Given the description of an element on the screen output the (x, y) to click on. 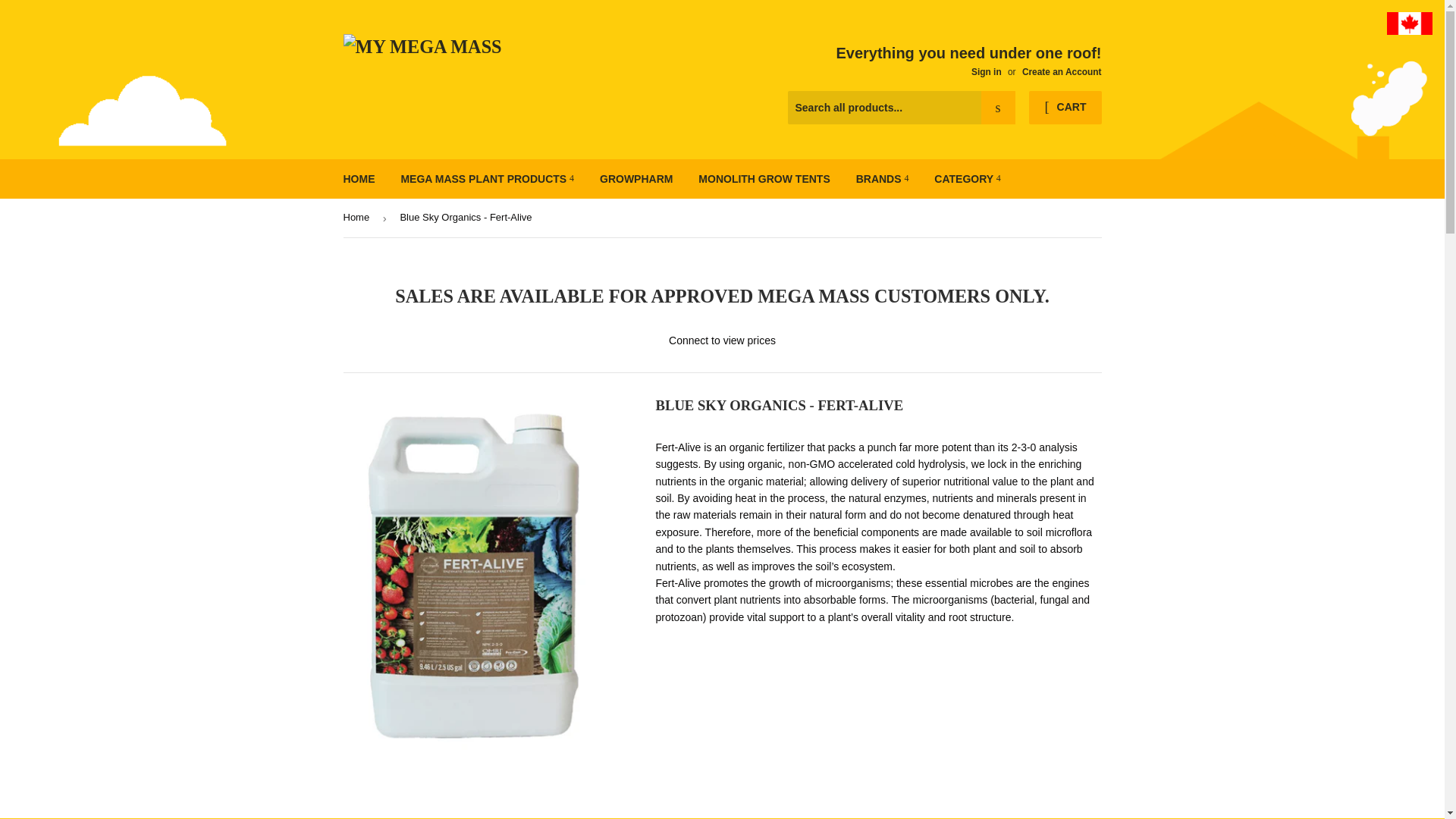
Search (997, 107)
CART (1064, 107)
Sign in (986, 71)
Create an Account (1062, 71)
